Given the description of an element on the screen output the (x, y) to click on. 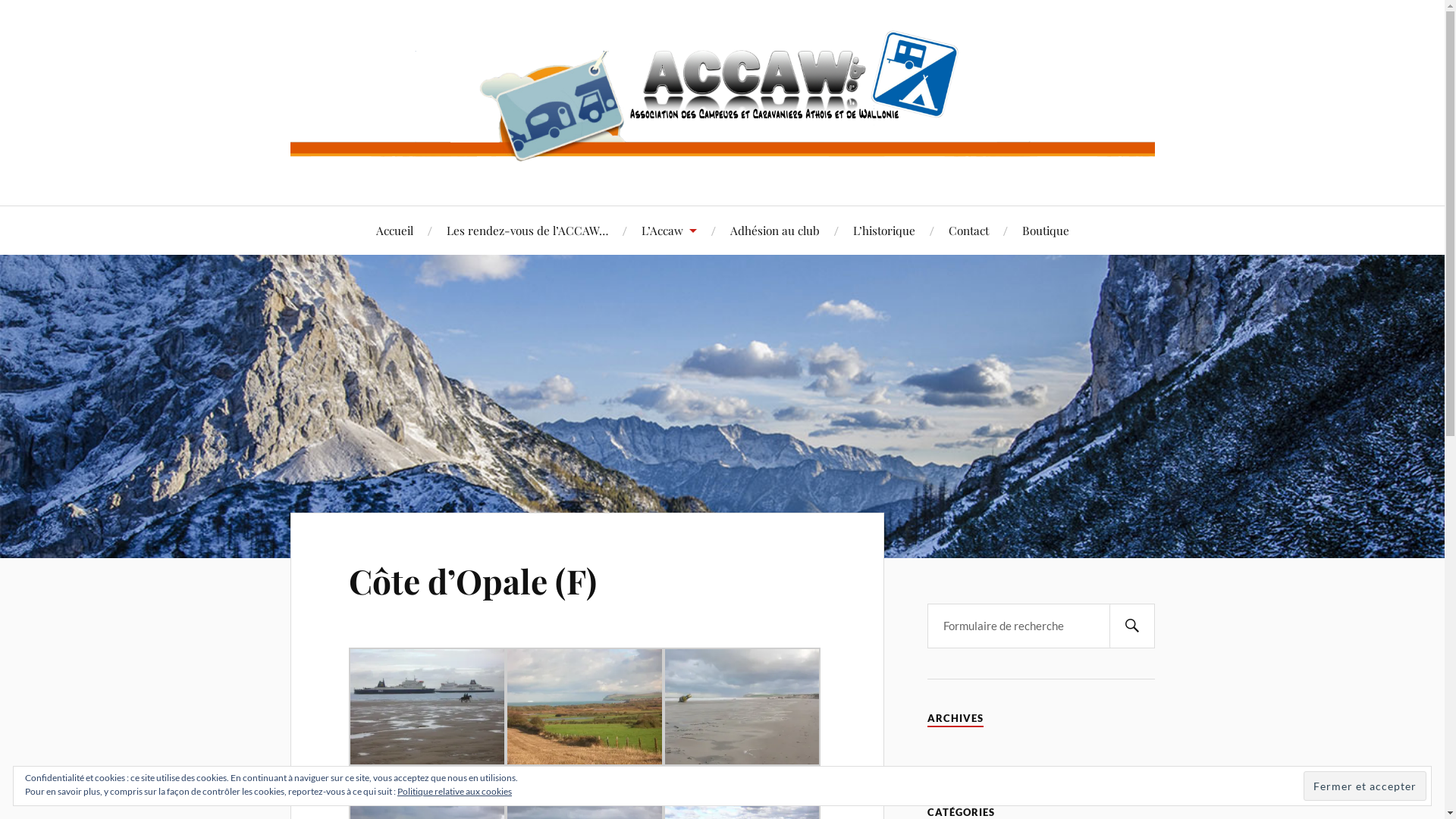
Politique relative aux cookies Element type: text (454, 791)
Fermer et accepter Element type: text (1364, 785)
Boutique Element type: text (1045, 230)
Accueil Element type: text (394, 230)
Contact Element type: text (967, 230)
